Given the description of an element on the screen output the (x, y) to click on. 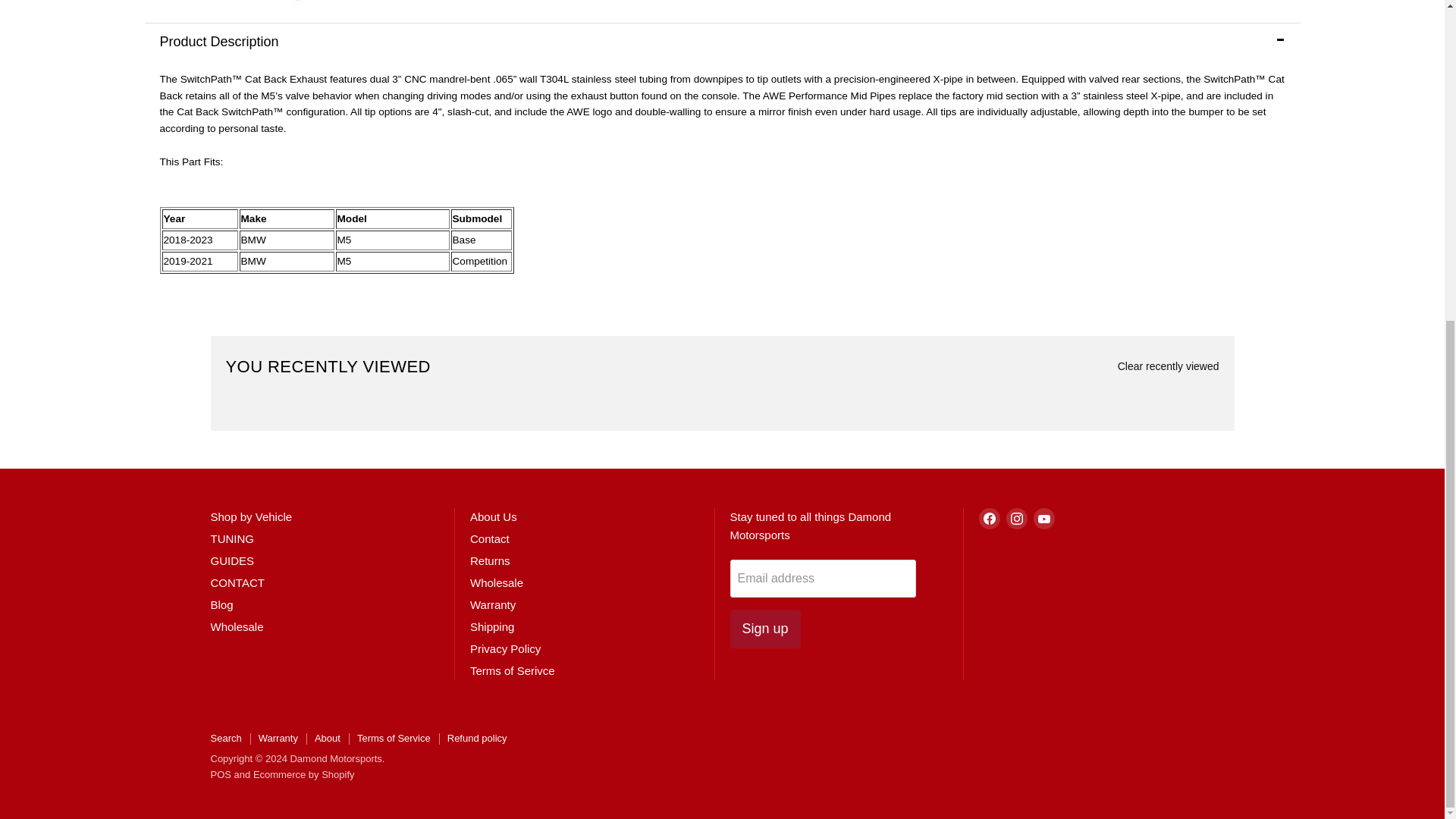
Instagram (1016, 518)
YouTube (1043, 518)
Facebook (988, 518)
